Given the description of an element on the screen output the (x, y) to click on. 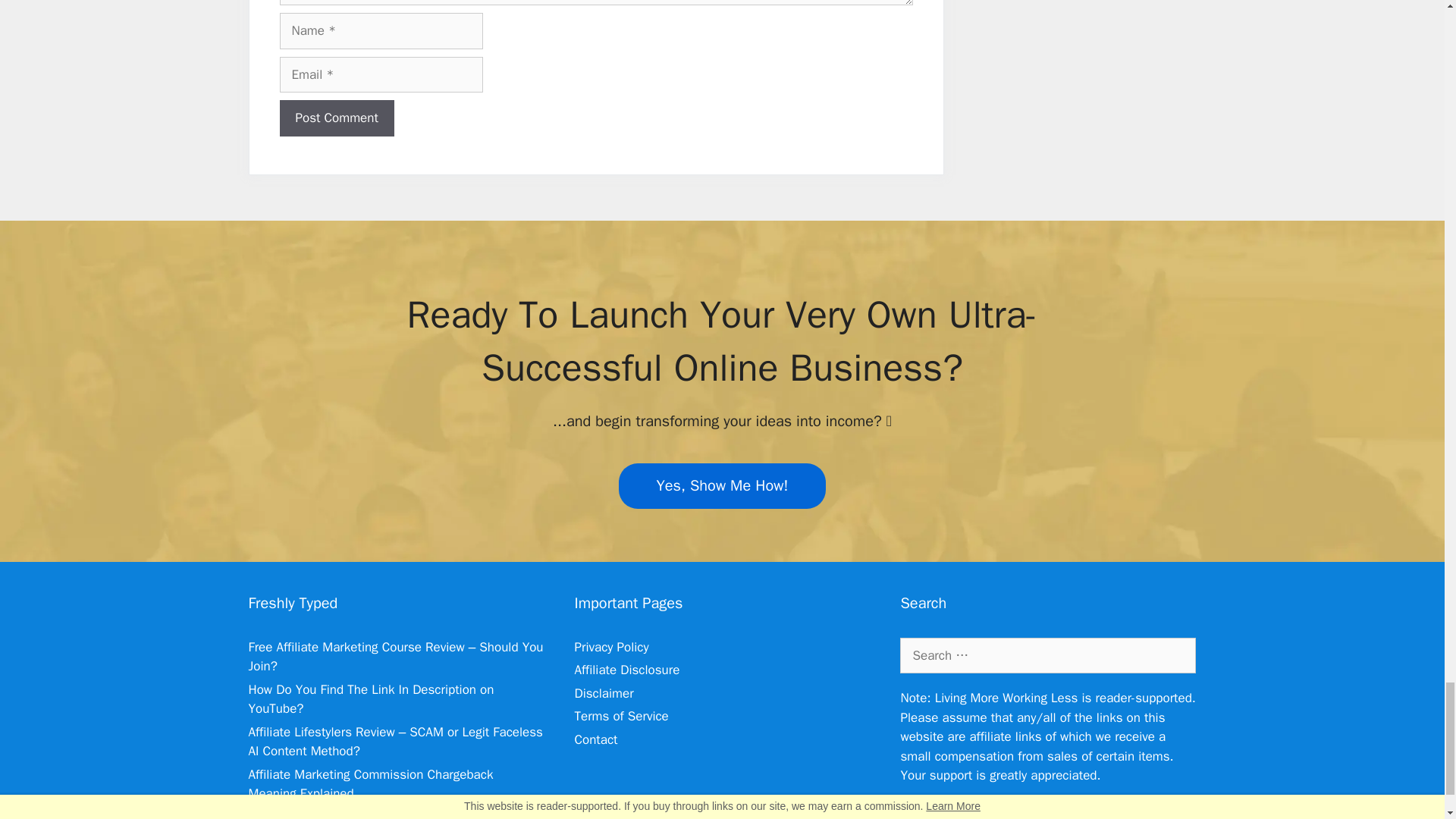
Post Comment (336, 117)
Search for: (1047, 656)
Post Comment (336, 117)
